Given the description of an element on the screen output the (x, y) to click on. 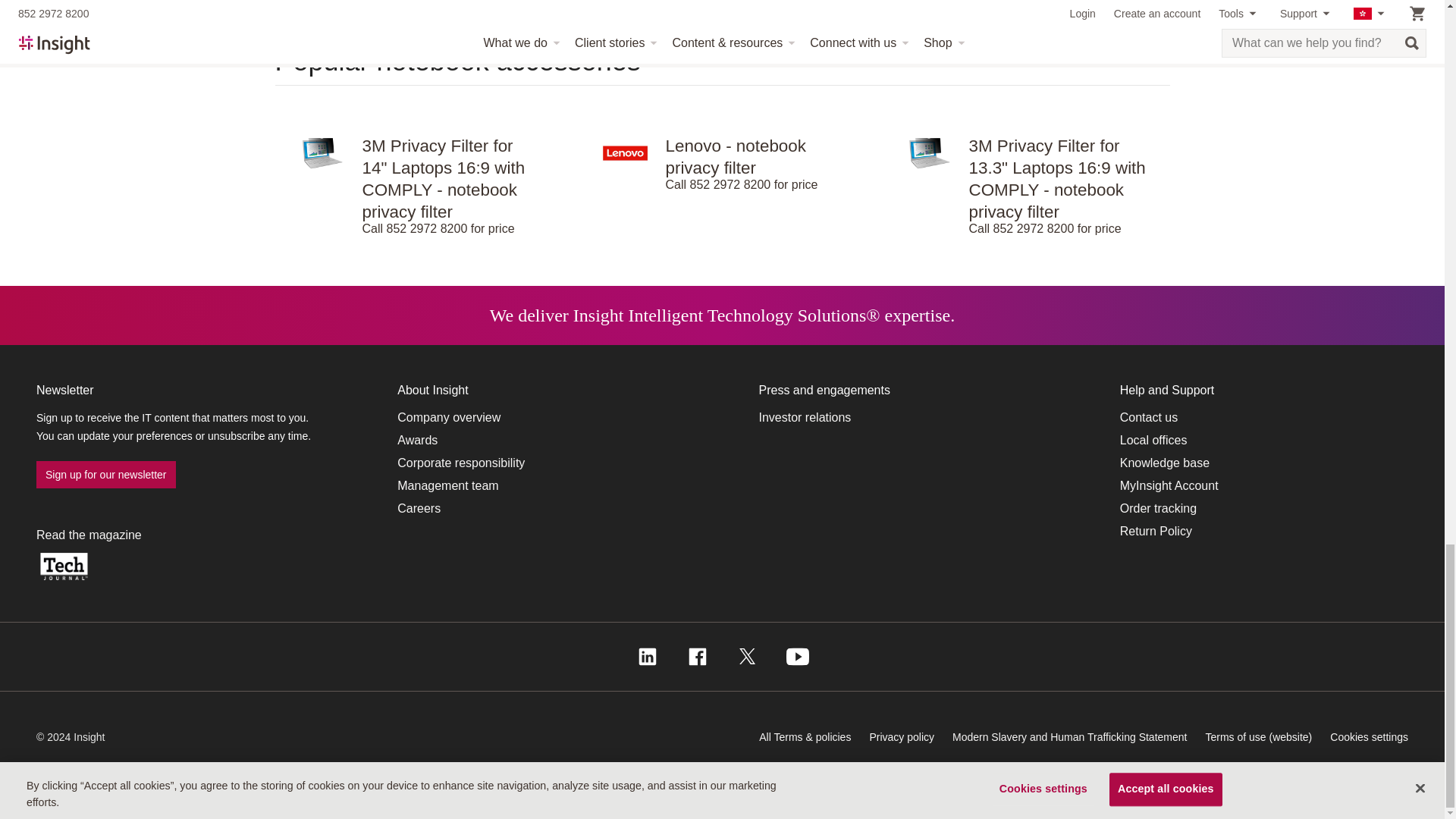
View Product Details (1025, 125)
Facebook (696, 656)
View Product Details (721, 125)
Youtube (797, 656)
Linkedin (646, 656)
View Product Details (418, 125)
Twitter (746, 656)
